Given the description of an element on the screen output the (x, y) to click on. 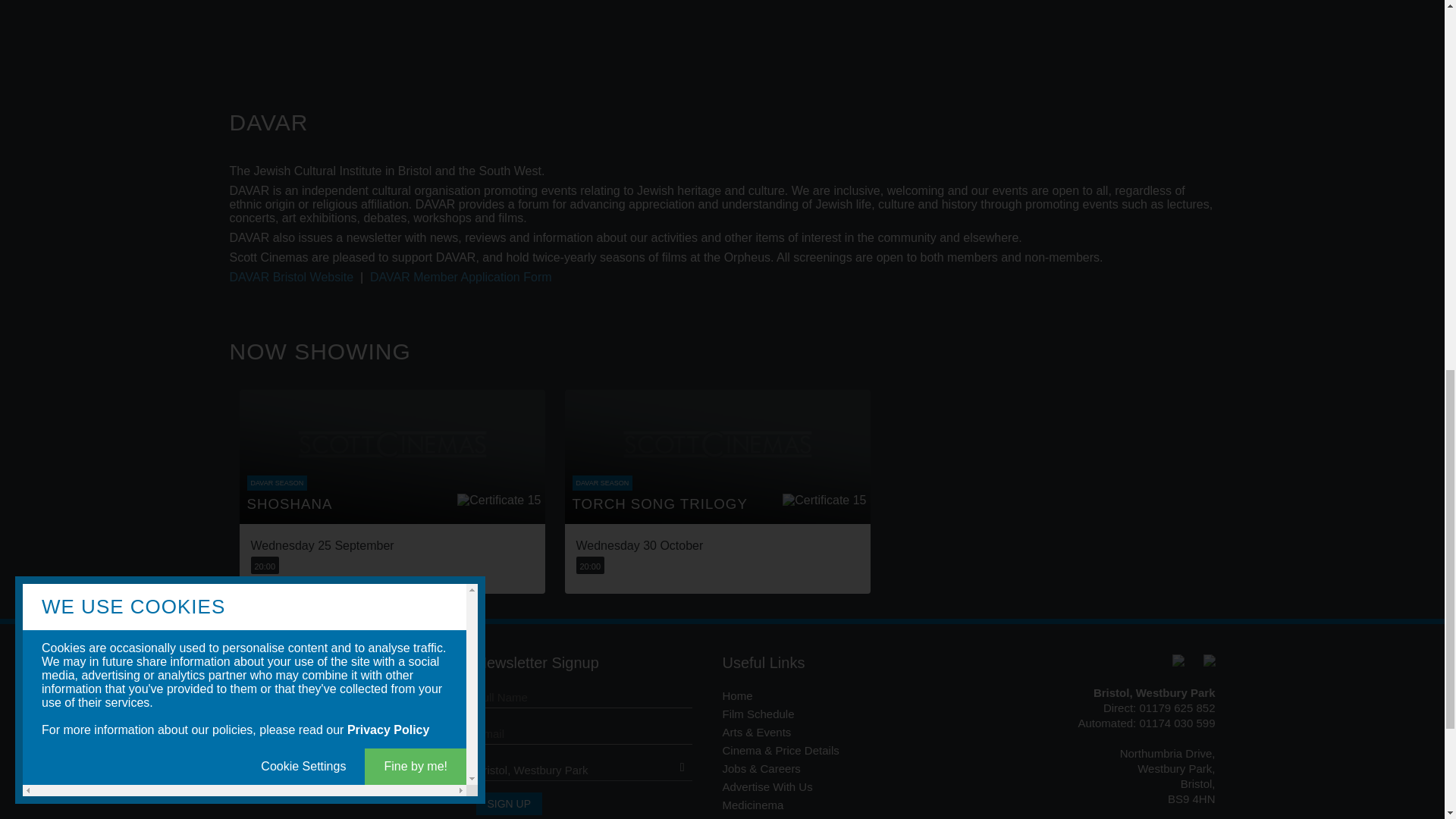
Certificate 15 (498, 502)
DAVAR Member Application Form (460, 277)
Film Schedule (757, 713)
20:00 (264, 565)
FAQ (733, 817)
20:00 (590, 565)
Medicinema (752, 804)
Home (737, 695)
Certificate 15 (824, 502)
DAVAR Bristol Website (290, 277)
